Given the description of an element on the screen output the (x, y) to click on. 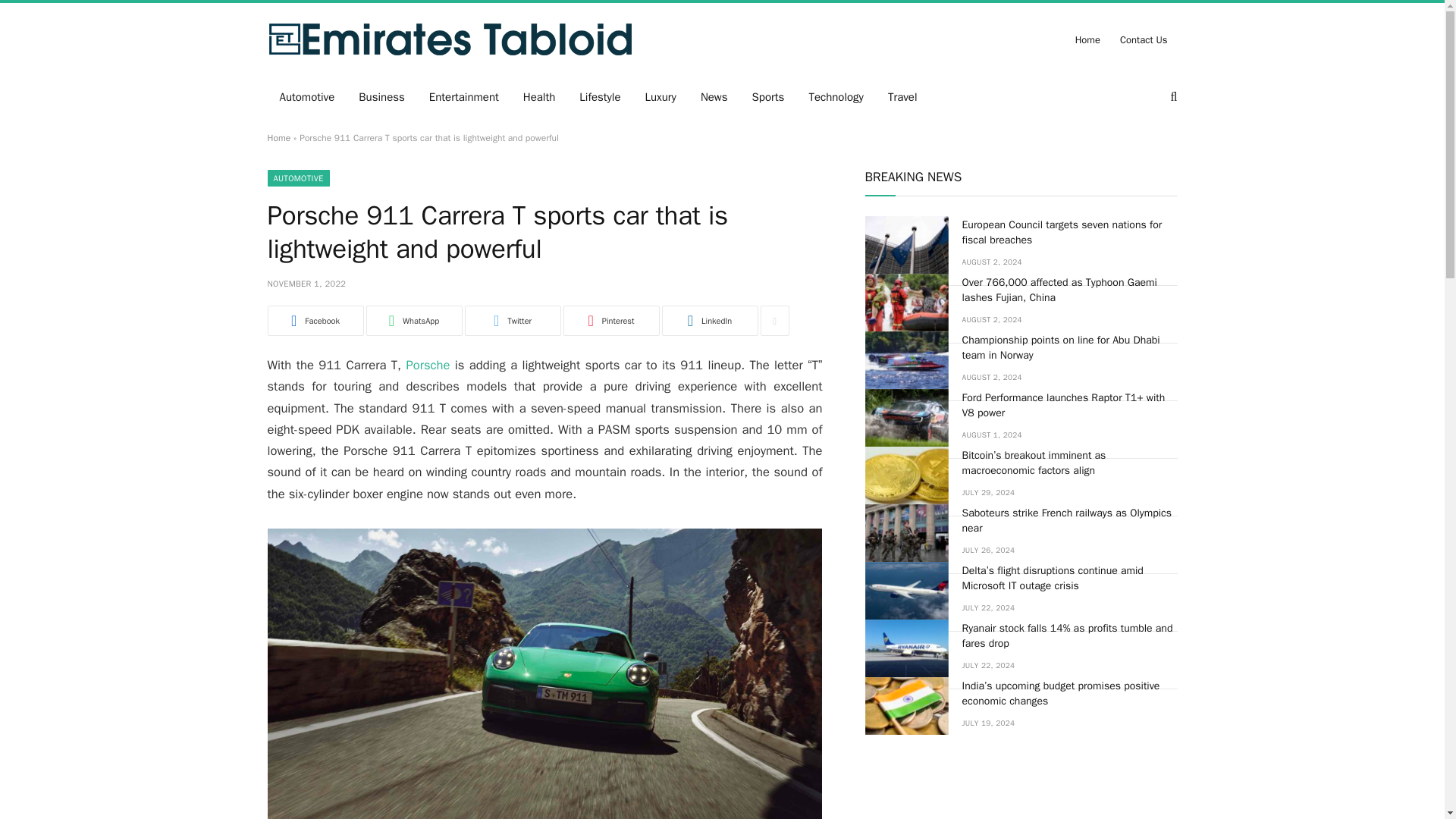
Entertainment (463, 96)
Facebook (314, 320)
Twitter (512, 320)
Emirates Tabloid (448, 39)
Health (539, 96)
Share on LinkedIn (709, 320)
LinkedIn (709, 320)
Contact Us (1143, 39)
Travel (903, 96)
News (713, 96)
Sports (767, 96)
Share on Pinterest (610, 320)
Luxury (660, 96)
Pinterest (610, 320)
Business (381, 96)
